Given the description of an element on the screen output the (x, y) to click on. 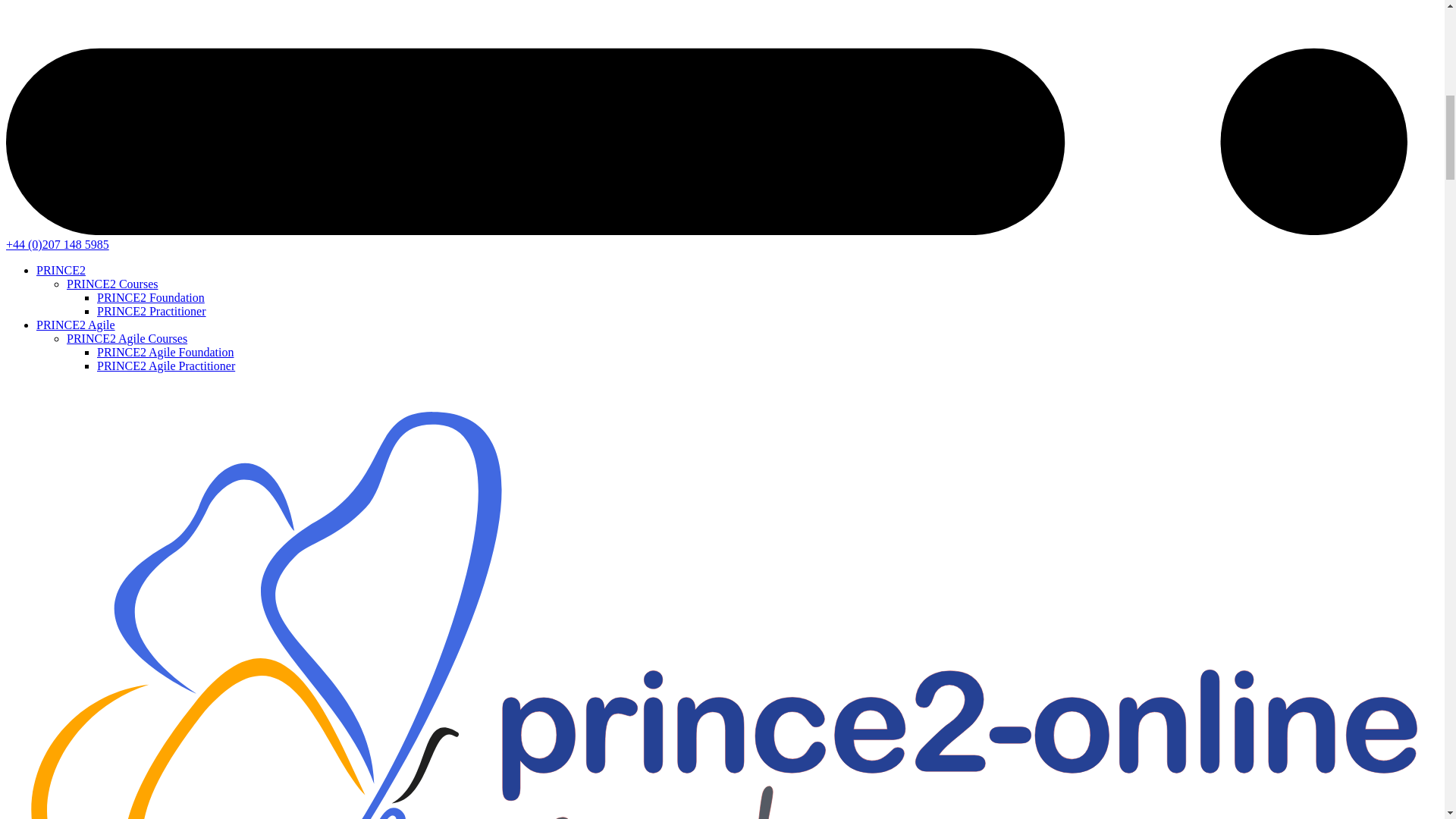
PRINCE2 Foundation (151, 297)
PRINCE2 Practitioner (151, 310)
PRINCE2 Agile (75, 324)
PRINCE2 Courses (111, 283)
PRINCE2 (60, 269)
PRINCE2 Agile Foundation (164, 351)
PRINCE2 Agile Practitioner (165, 365)
PRINCE2 Agile Courses (126, 338)
